Given the description of an element on the screen output the (x, y) to click on. 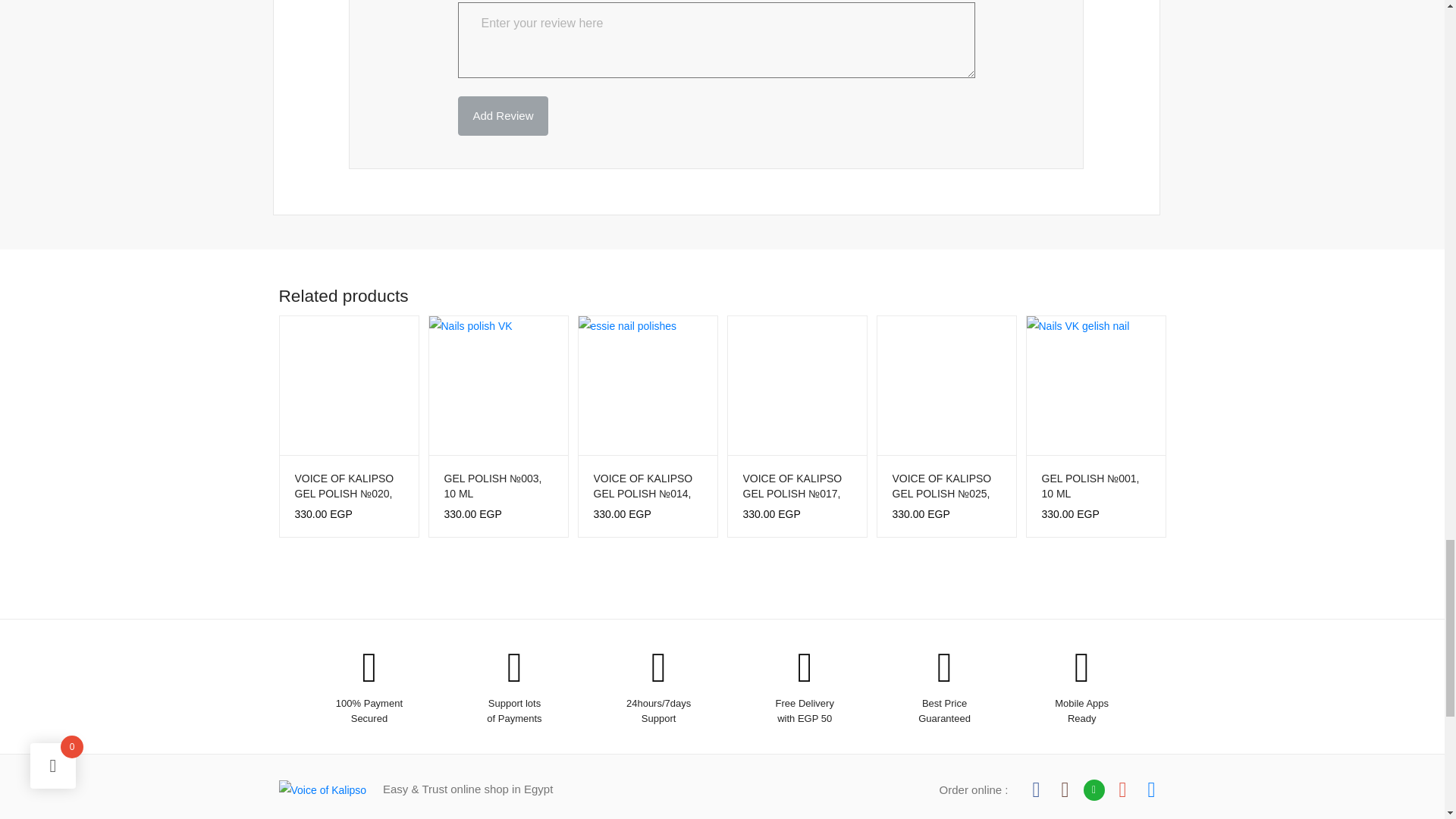
Add Review (502, 115)
